Given the description of an element on the screen output the (x, y) to click on. 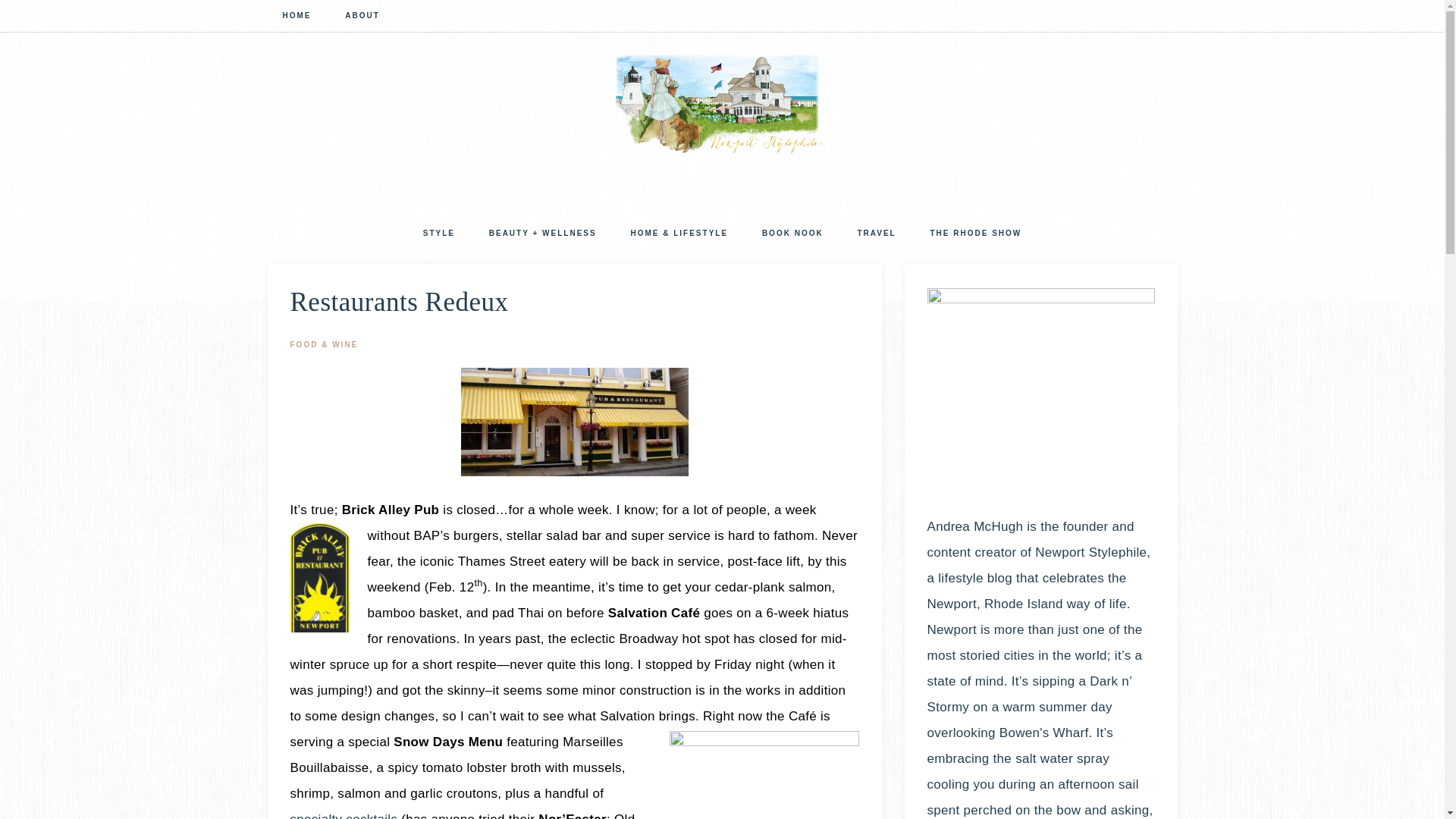
Brick Alley Pub (390, 509)
HOME (296, 17)
images (574, 421)
STYLE (438, 234)
TRAVEL (876, 234)
ABOUT (362, 17)
BOOK NOOK (792, 234)
THE RHODE SHOW (975, 234)
